Given the description of an element on the screen output the (x, y) to click on. 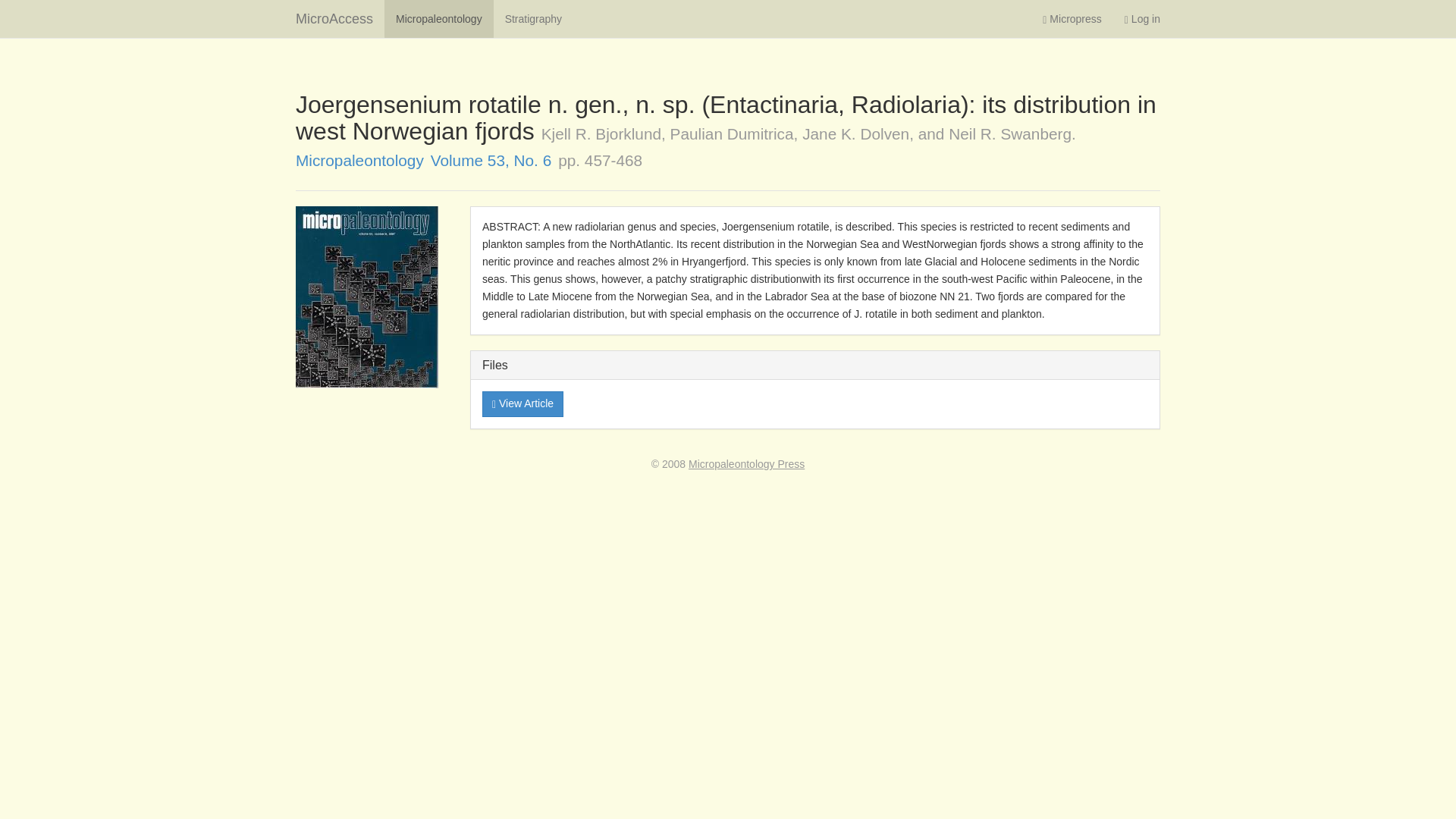
Micropaleontology (359, 159)
Micropress (1071, 18)
View Article (522, 403)
Micropaleontology (438, 18)
MicroAccess (333, 18)
Log in (1142, 18)
Stratigraphy (533, 18)
Micropaleontology Press (746, 463)
Volume 53, No. 6 (490, 159)
